Given the description of an element on the screen output the (x, y) to click on. 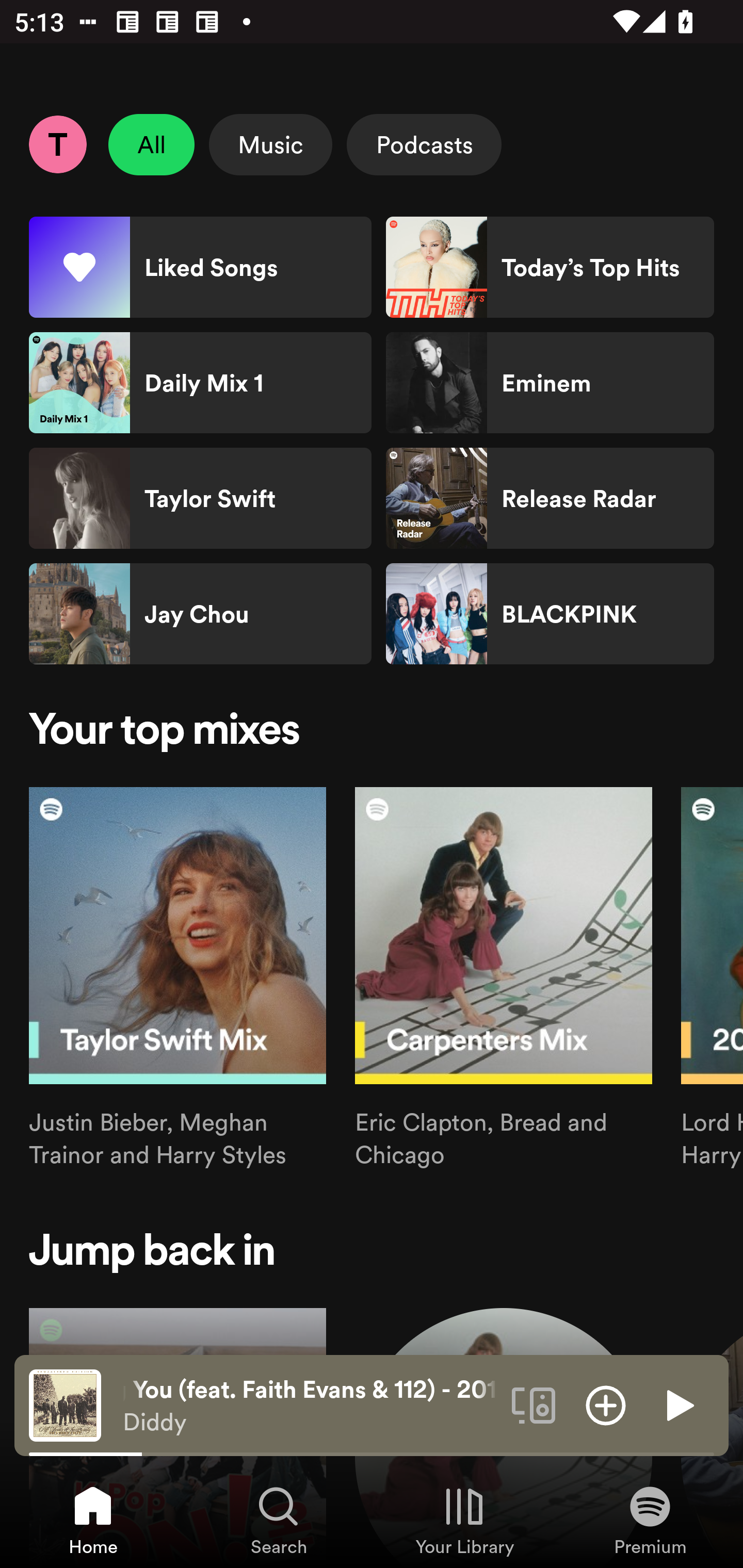
Profile (57, 144)
All Unselect All (151, 144)
Music Select Music (270, 144)
Podcasts Select Podcasts (423, 144)
Liked Songs Shortcut Liked Songs (199, 267)
Today’s Top Hits Shortcut Today’s Top Hits (549, 267)
Daily Mix 1 Shortcut Daily Mix 1 (199, 382)
Eminem Shortcut Eminem (549, 382)
Taylor Swift Shortcut Taylor Swift (199, 498)
Release Radar Shortcut Release Radar (549, 498)
Jay Chou Shortcut Jay Chou (199, 613)
BLACKPINK Shortcut BLACKPINK (549, 613)
The cover art of the currently playing track (64, 1404)
Connect to a device. Opens the devices menu (533, 1404)
Add item (605, 1404)
Play (677, 1404)
Home, Tab 1 of 4 Home Home (92, 1519)
Search, Tab 2 of 4 Search Search (278, 1519)
Your Library, Tab 3 of 4 Your Library Your Library (464, 1519)
Premium, Tab 4 of 4 Premium Premium (650, 1519)
